Given the description of an element on the screen output the (x, y) to click on. 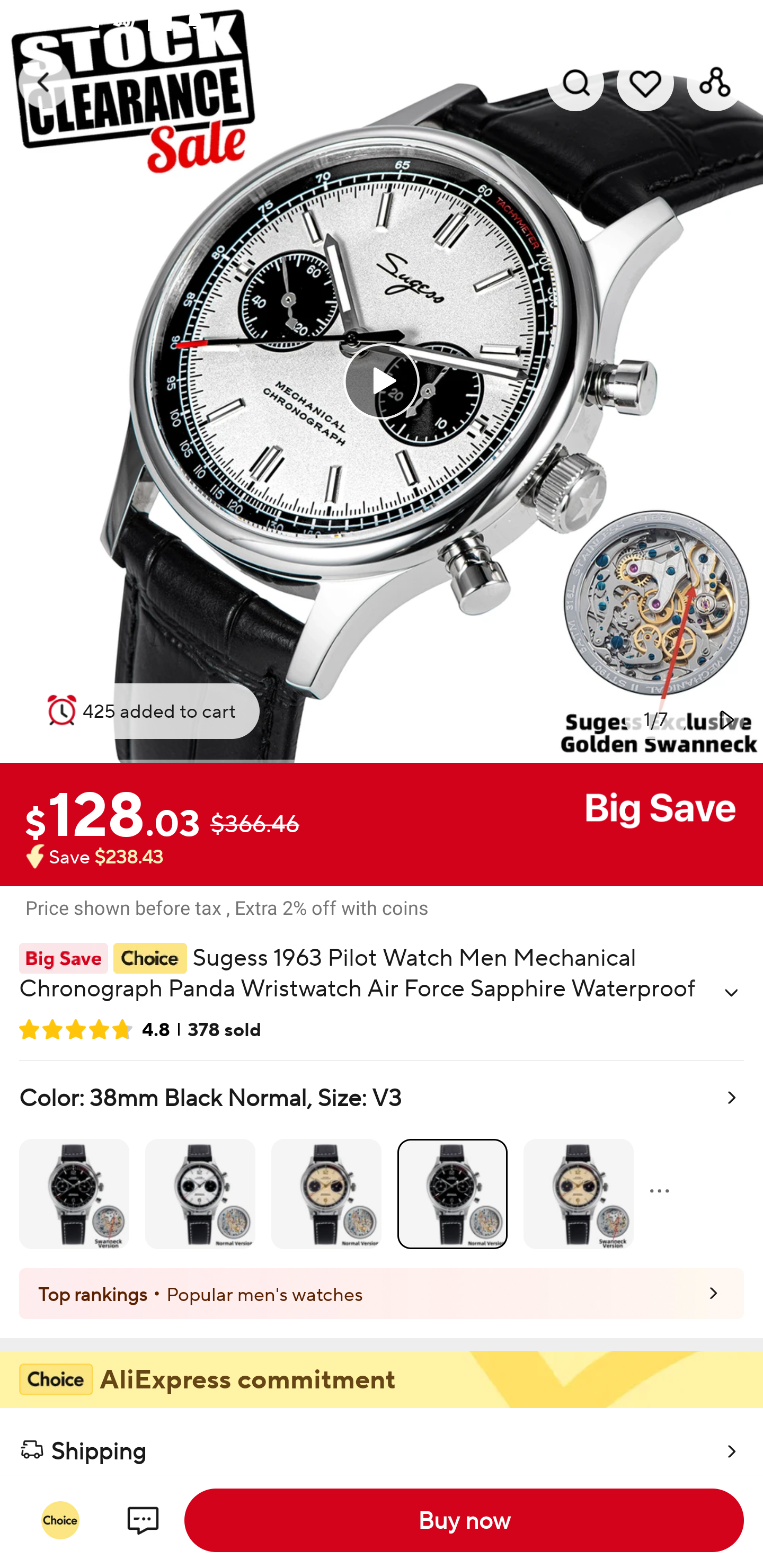
0.0 (381, 381)
Navigate up (44, 82)
 (724, 719)
 (730, 992)
Color: 38mm Black Normal, Size: V3  (381, 1164)
Shipping  (381, 1441)
Buy now (463, 1520)
